Given the description of an element on the screen output the (x, y) to click on. 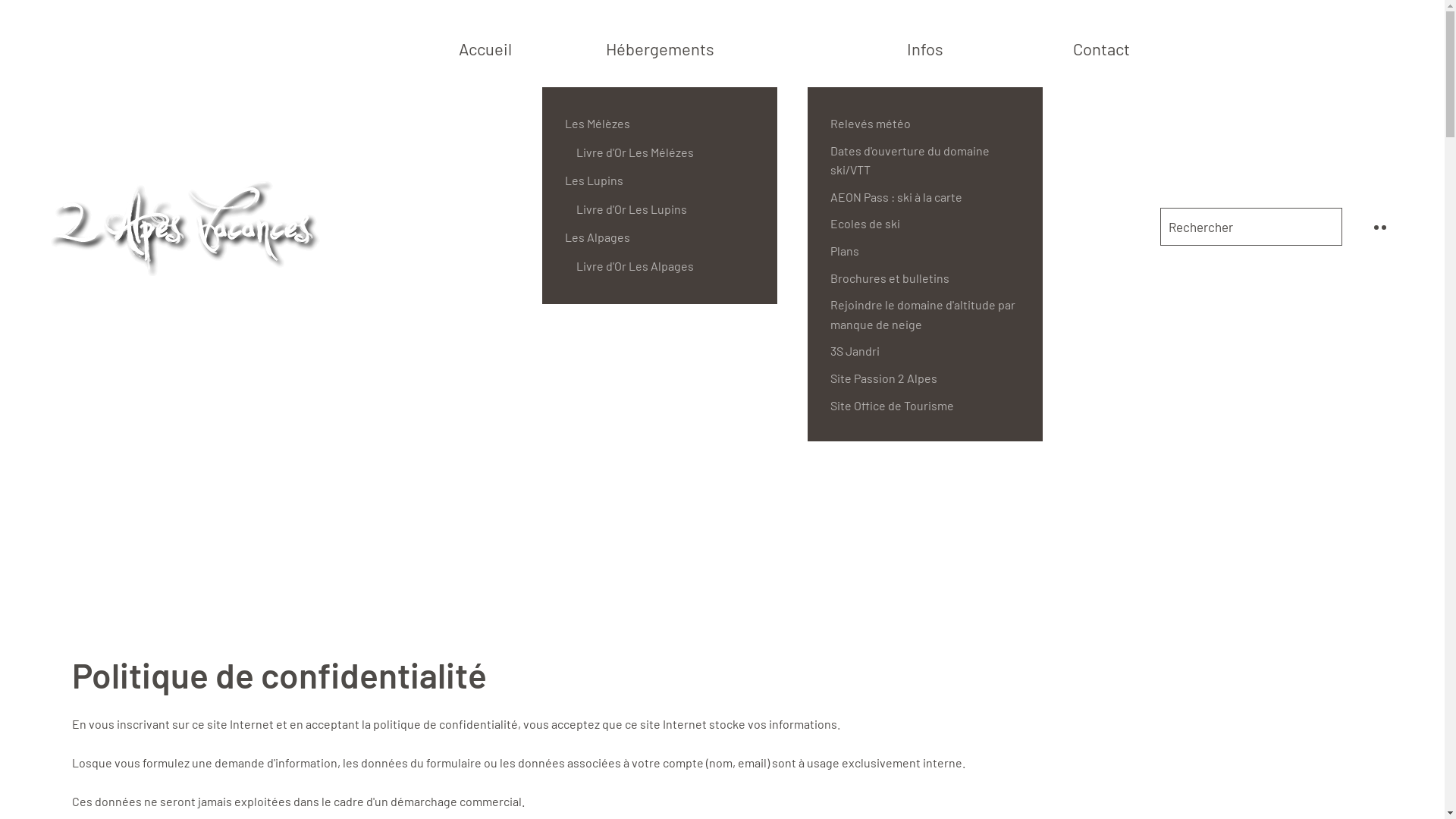
Contact Element type: text (1101, 49)
Les Lupins Element type: text (659, 180)
Brochures et bulletins Element type: text (924, 277)
Site Office de Tourisme Element type: text (924, 405)
Dates d'ouverture du domaine ski/VTT Element type: text (924, 160)
Accueil Element type: text (484, 49)
Livre d'Or Les Lupins Element type: text (665, 208)
Les Alpages Element type: text (659, 237)
Plans Element type: text (924, 250)
3S Jandri Element type: text (924, 350)
Ecoles de ski Element type: text (924, 223)
Livre d'Or Les Alpages Element type: text (665, 265)
Rejoindre le domaine d'altitude par manque de neige Element type: text (924, 314)
Infos Element type: text (924, 49)
Site Passion 2 Alpes Element type: text (924, 378)
